Given the description of an element on the screen output the (x, y) to click on. 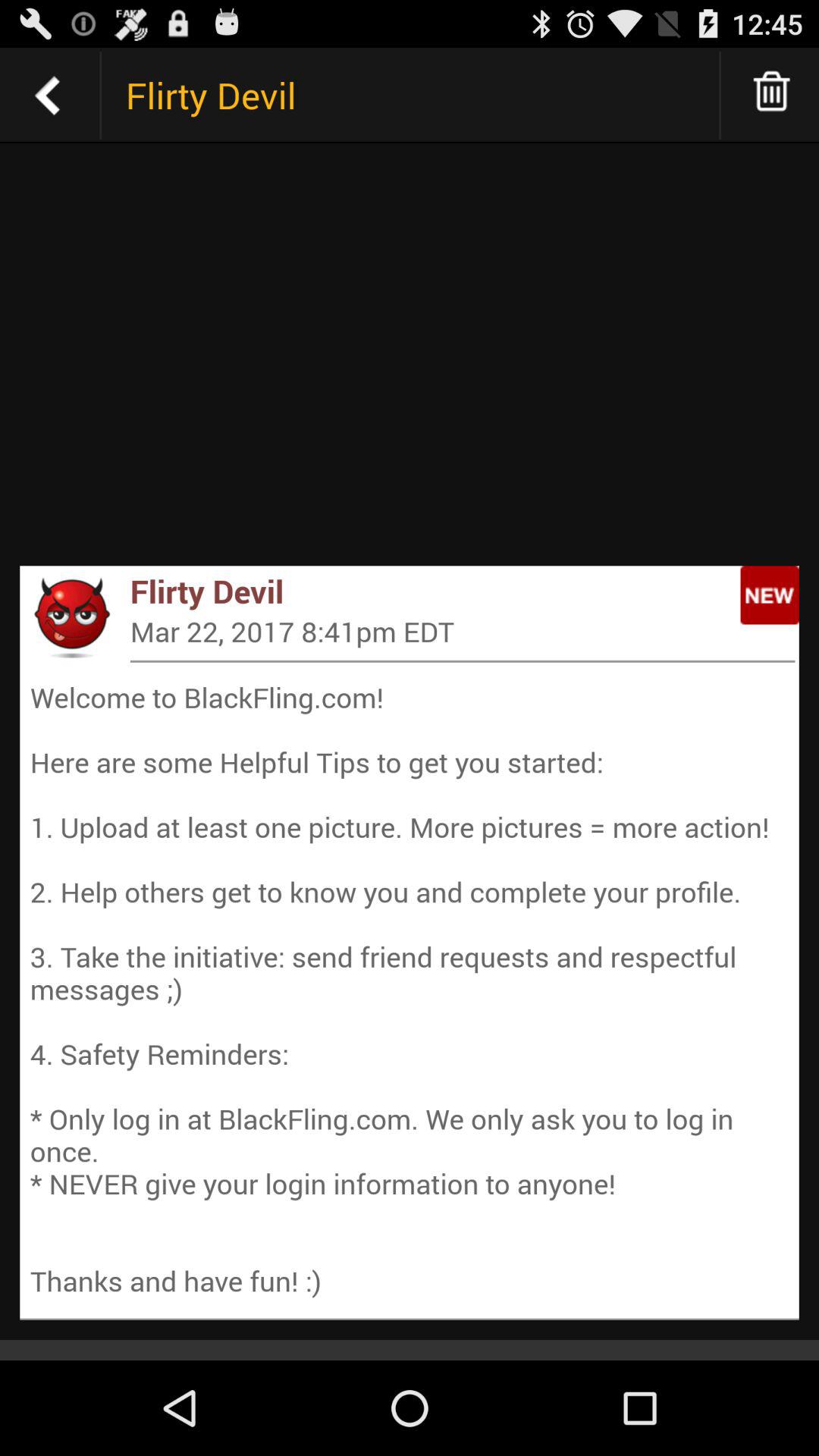
choose icon to the left of the flirty devil app (71, 617)
